Given the description of an element on the screen output the (x, y) to click on. 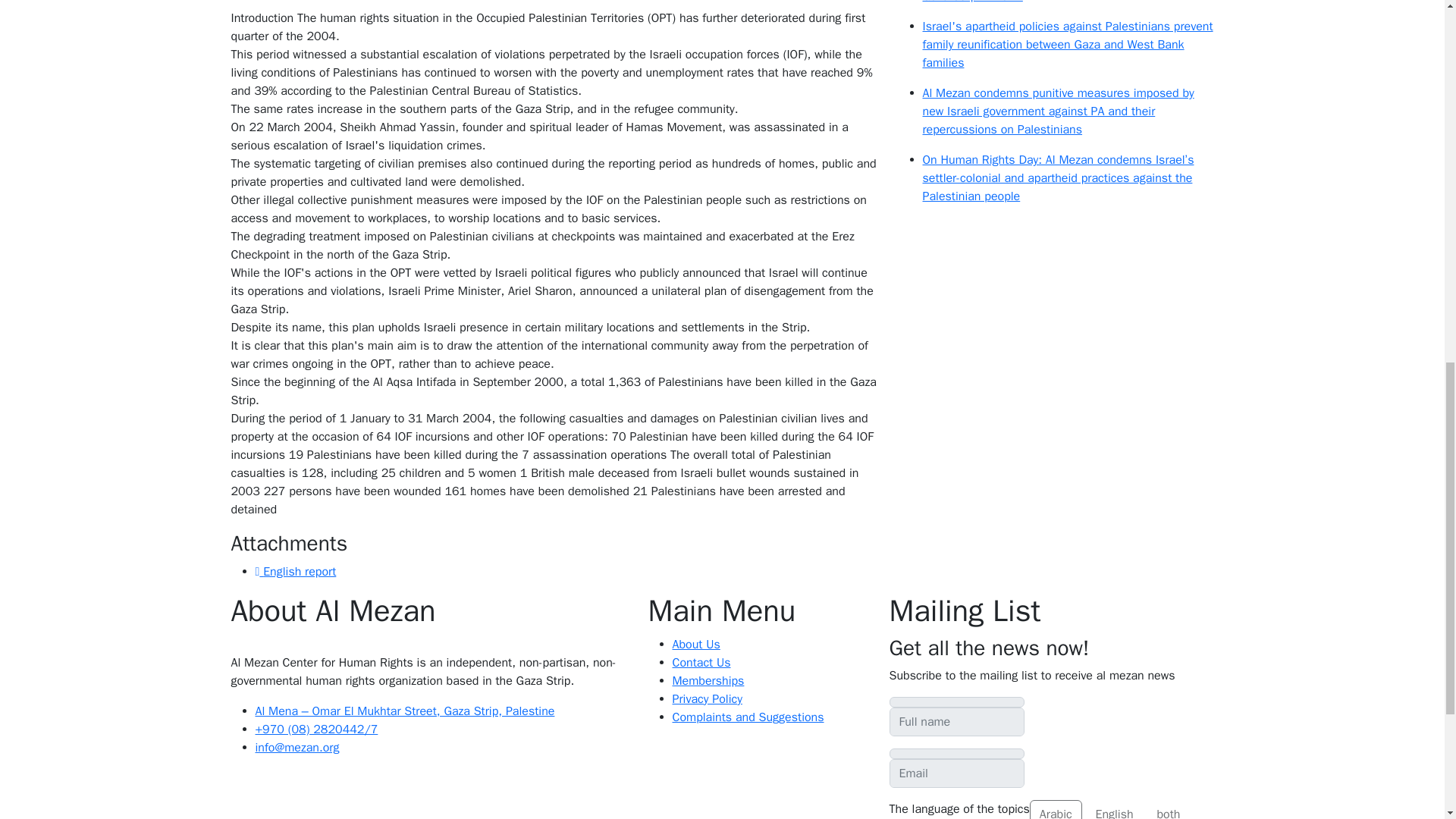
1 (1034, 804)
2 (1089, 804)
3 (1151, 804)
